Given the description of an element on the screen output the (x, y) to click on. 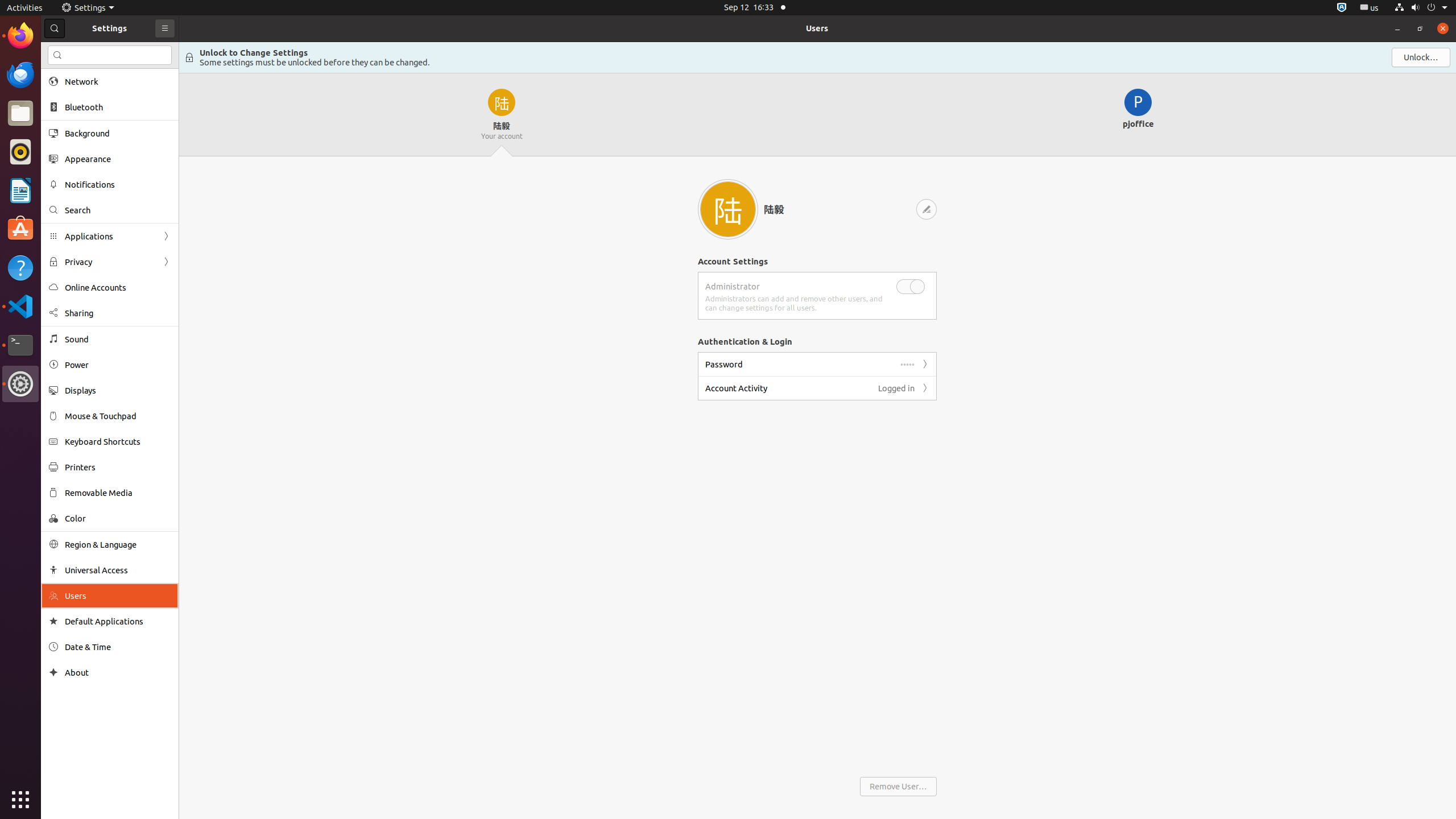
Background Element type: label (117, 133)
